Given the description of an element on the screen output the (x, y) to click on. 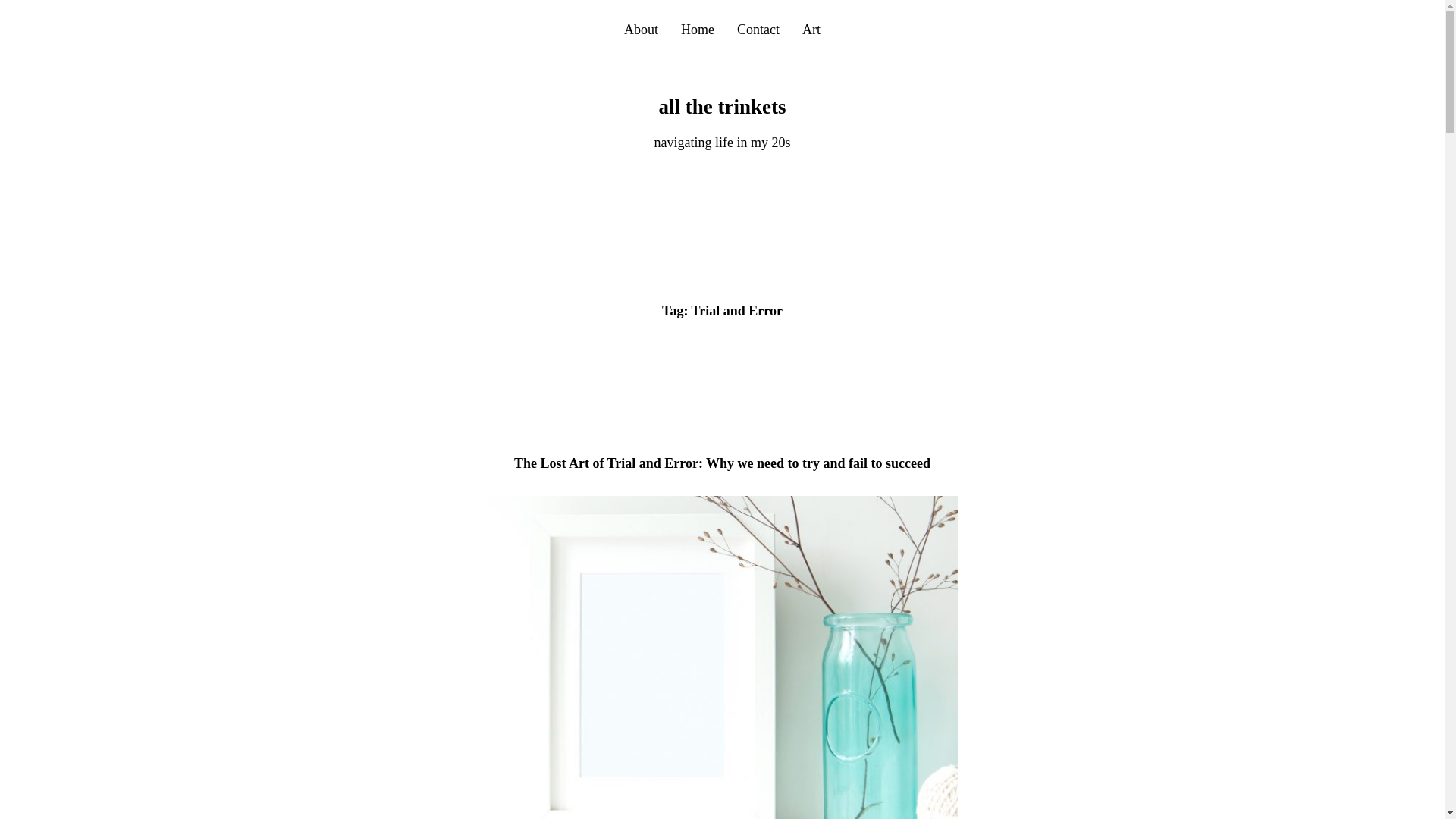
Art (811, 29)
About (641, 29)
Contact (757, 29)
all the trinkets (722, 106)
Home (697, 29)
